Given the description of an element on the screen output the (x, y) to click on. 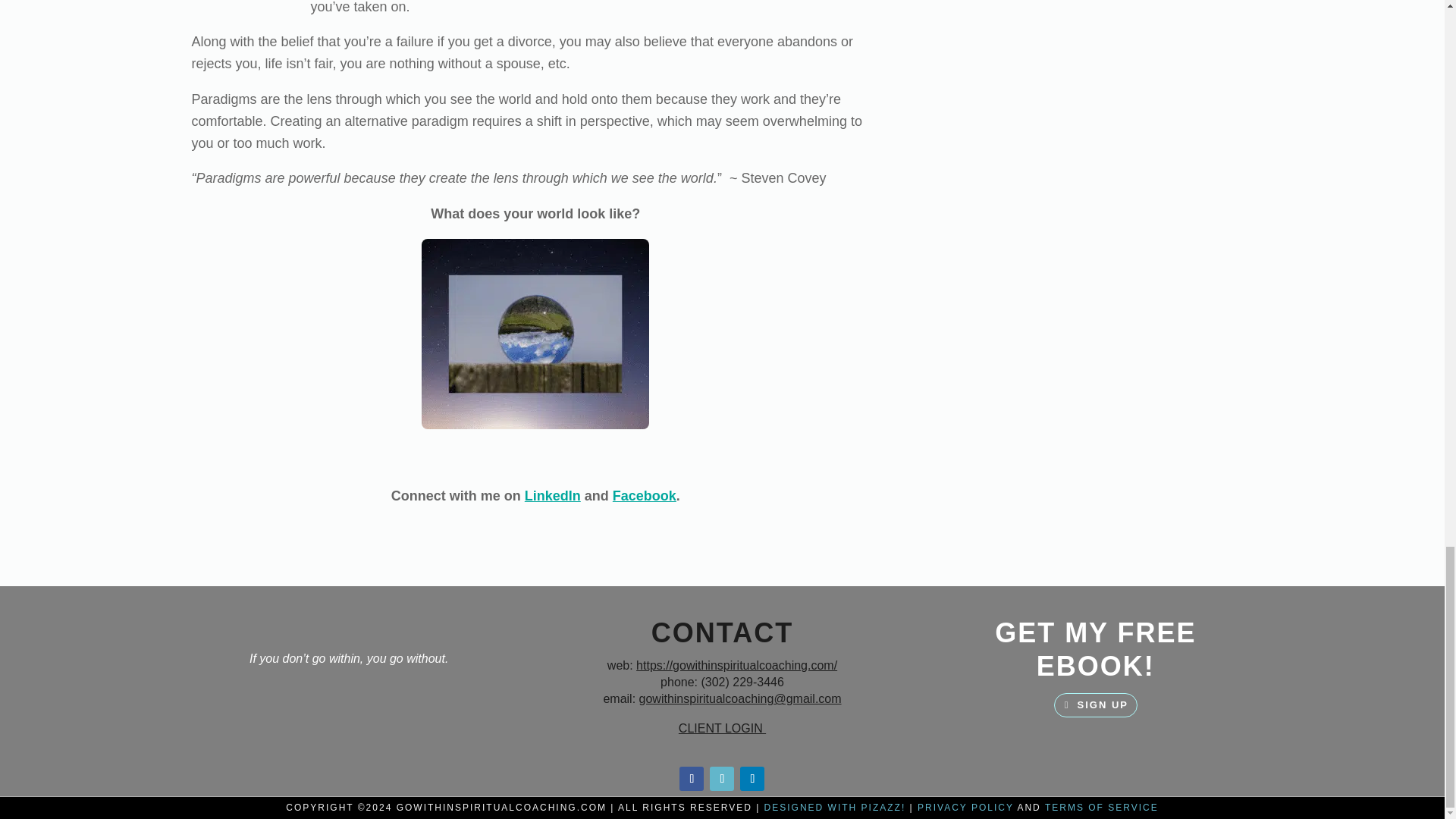
DESIGNED WITH PIZAZZ! (834, 807)
Facebook (644, 495)
CLIENT LOGIN  (721, 727)
LinkedIn (552, 495)
Follow on LinkedIn (751, 778)
PRIVACY POLICY (965, 807)
Follow on Instagram (721, 778)
SIGN UP (1095, 704)
TERMS OF SERVICE (1101, 807)
Follow on Facebook (691, 778)
